Given the description of an element on the screen output the (x, y) to click on. 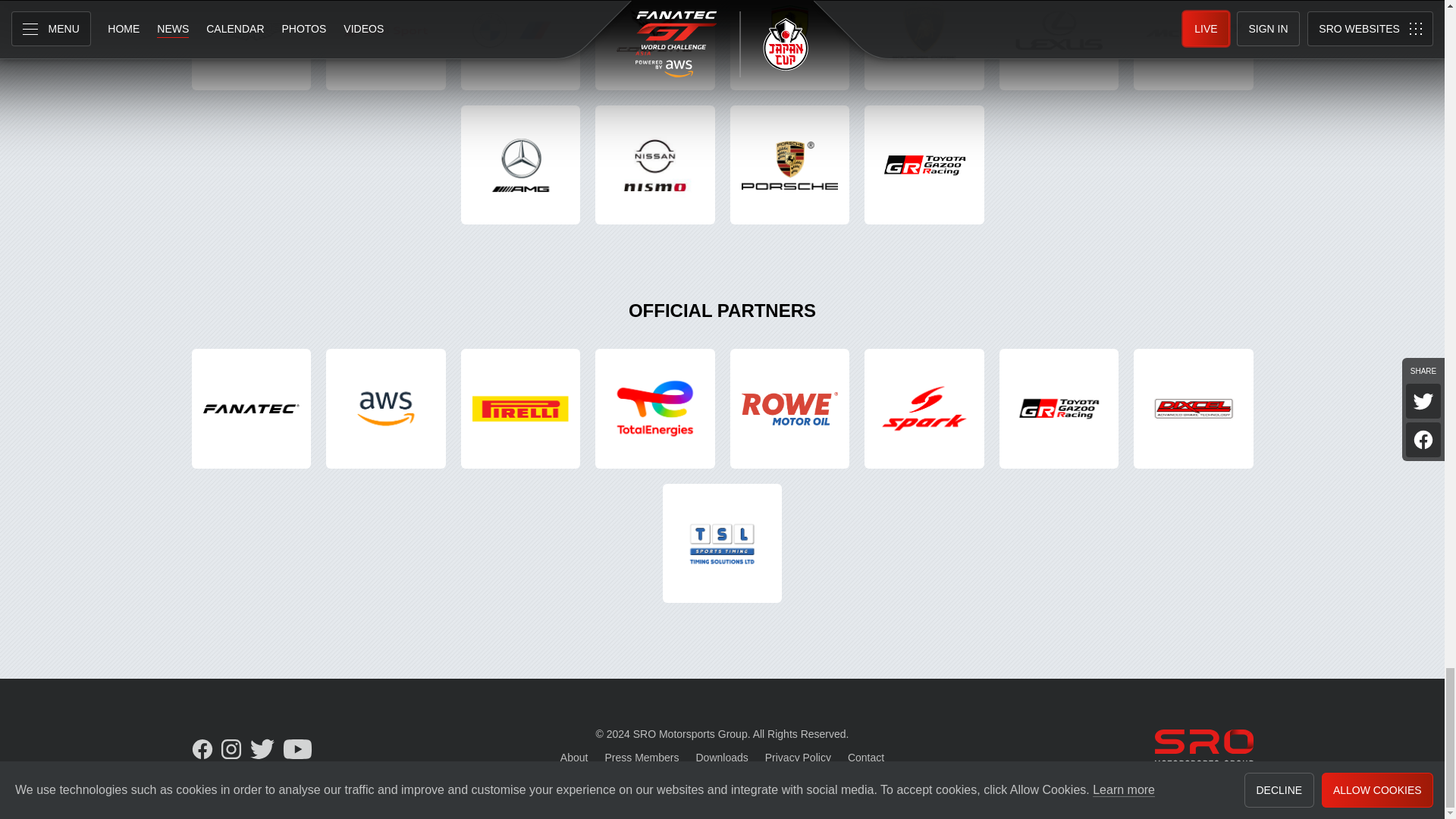
ROWE (788, 408)
AWS (385, 408)
Fanatec (250, 408)
Porsche (788, 165)
Toyota Gazoo Racing (1058, 408)
McLaren (1193, 45)
BMW (520, 45)
Aston Martin (250, 45)
Spark (924, 408)
Mercedes-AMG (520, 165)
Dixcel (1193, 408)
Lexus (1058, 45)
Lamborghini (924, 45)
Audi (385, 45)
Ferrari (788, 45)
